Given the description of an element on the screen output the (x, y) to click on. 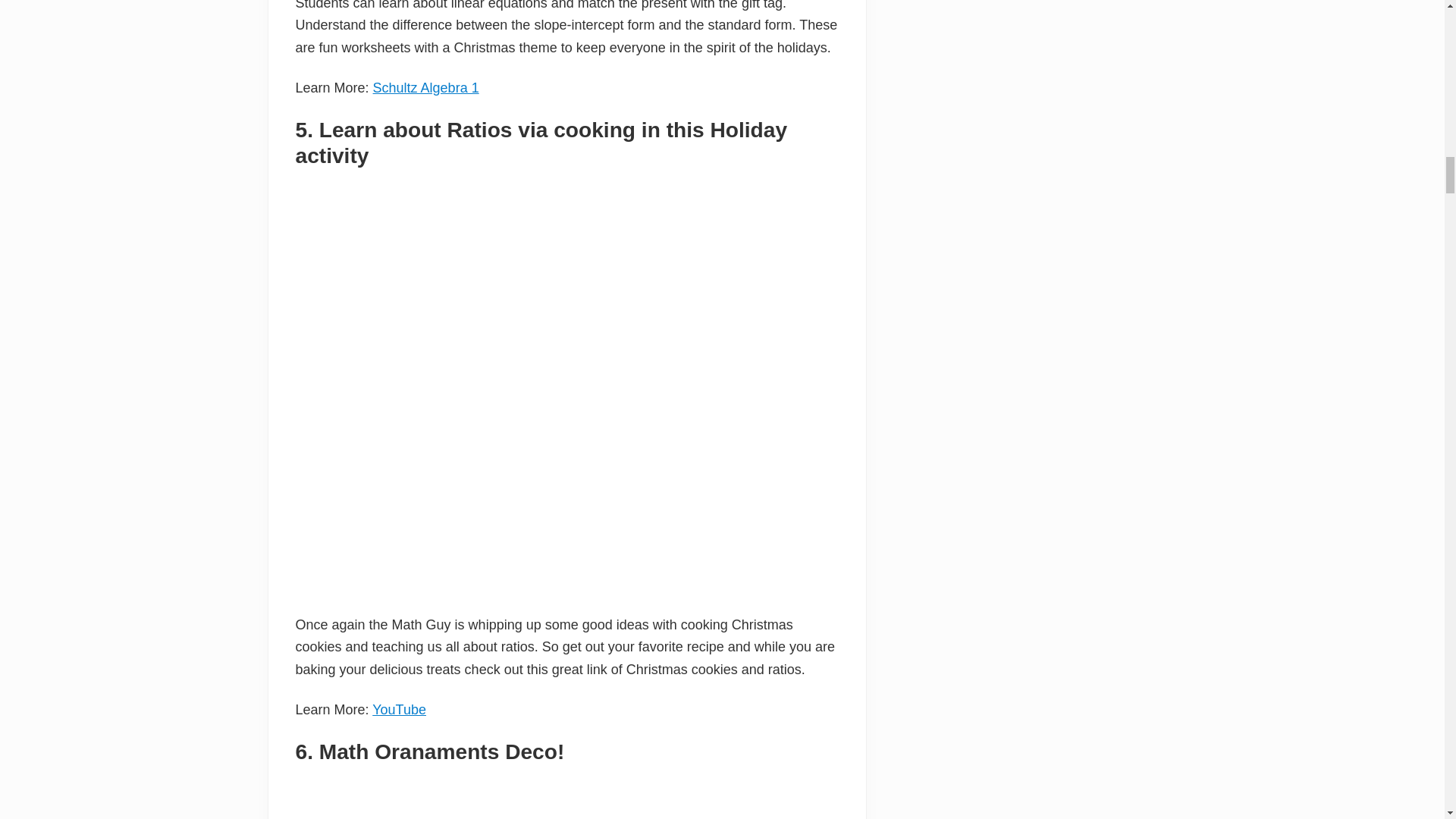
YouTube (399, 709)
Schultz Algebra 1 (425, 87)
